Given the description of an element on the screen output the (x, y) to click on. 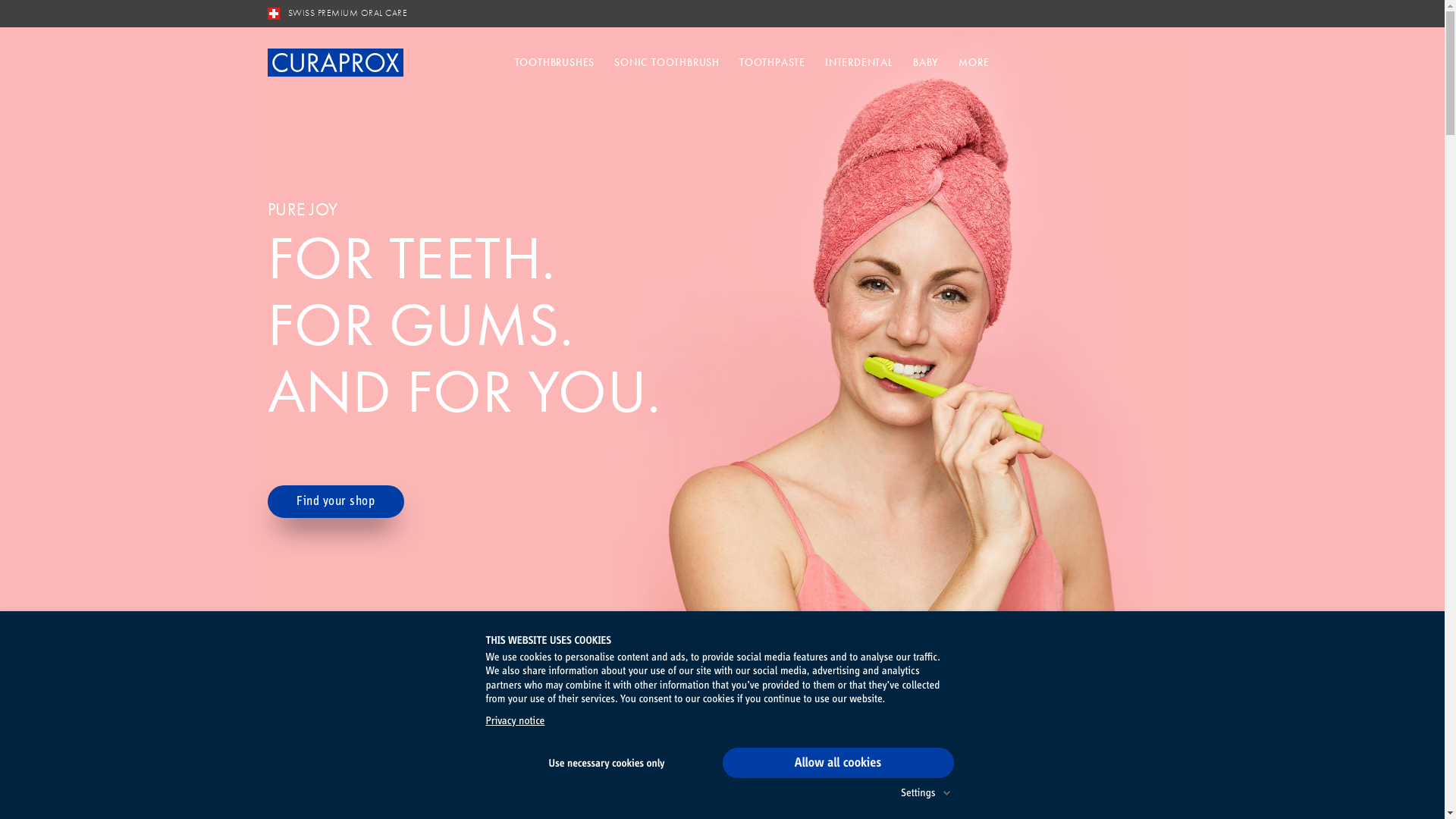
TOOTHPASTE Element type: text (772, 62)
Privacy notice Element type: text (514, 721)
Settings Element type: text (722, 790)
Allow all cookies Element type: text (837, 762)
BABY Element type: text (925, 62)
MORE Element type: text (973, 62)
Use necessary cookies only Element type: text (606, 764)
INTERDENTAL Element type: text (859, 62)
SONIC TOOTHBRUSH Element type: text (666, 62)
TOOTHBRUSHES Element type: text (555, 62)
Find your shop Element type: text (334, 501)
